Given the description of an element on the screen output the (x, y) to click on. 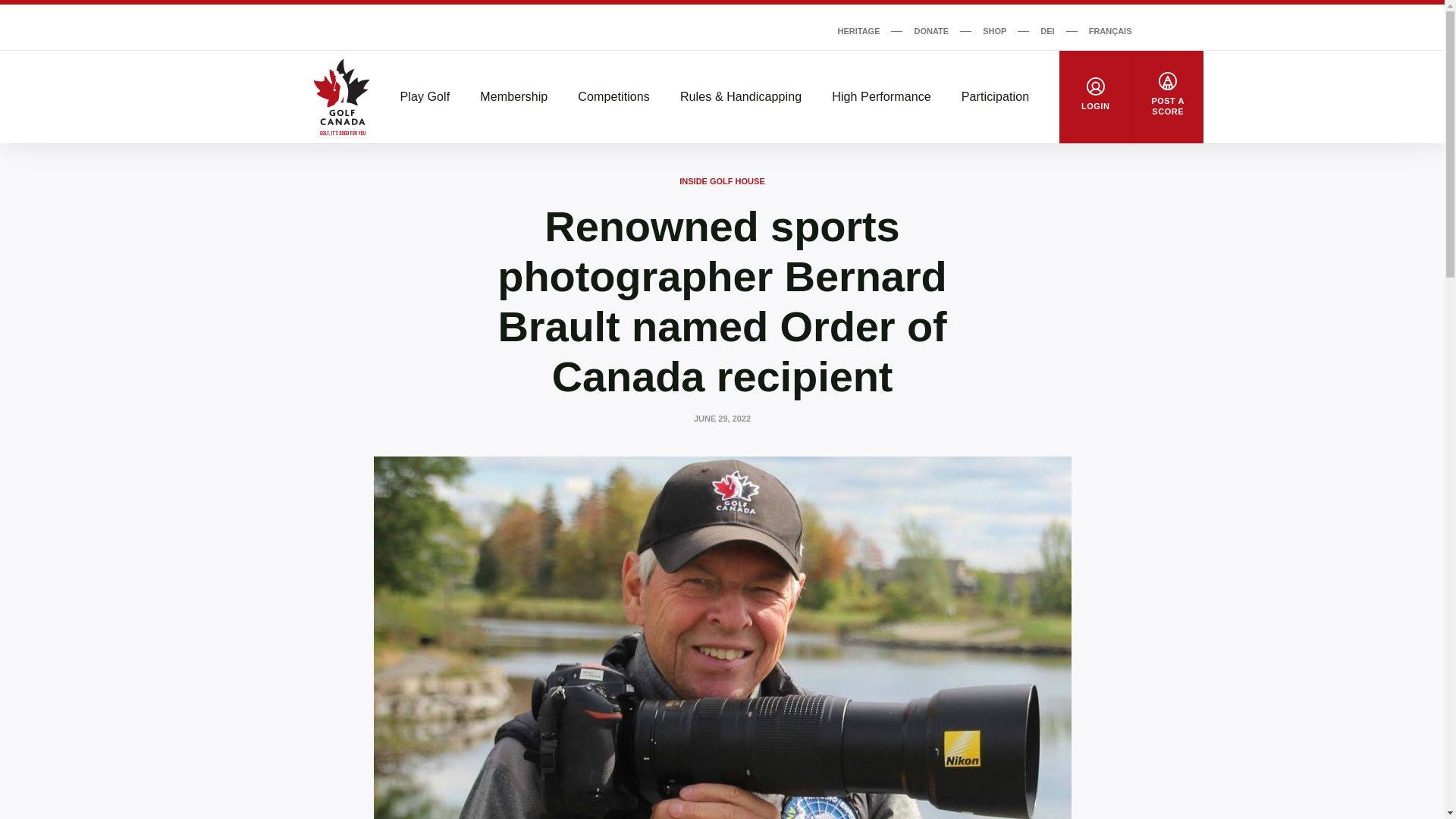
Participation (994, 96)
DONATE (931, 30)
High Performance (881, 96)
Play Golf (425, 96)
HERITAGE (858, 30)
Competitions (613, 96)
DEI (1047, 30)
SHOP (994, 30)
Membership (513, 96)
